Given the description of an element on the screen output the (x, y) to click on. 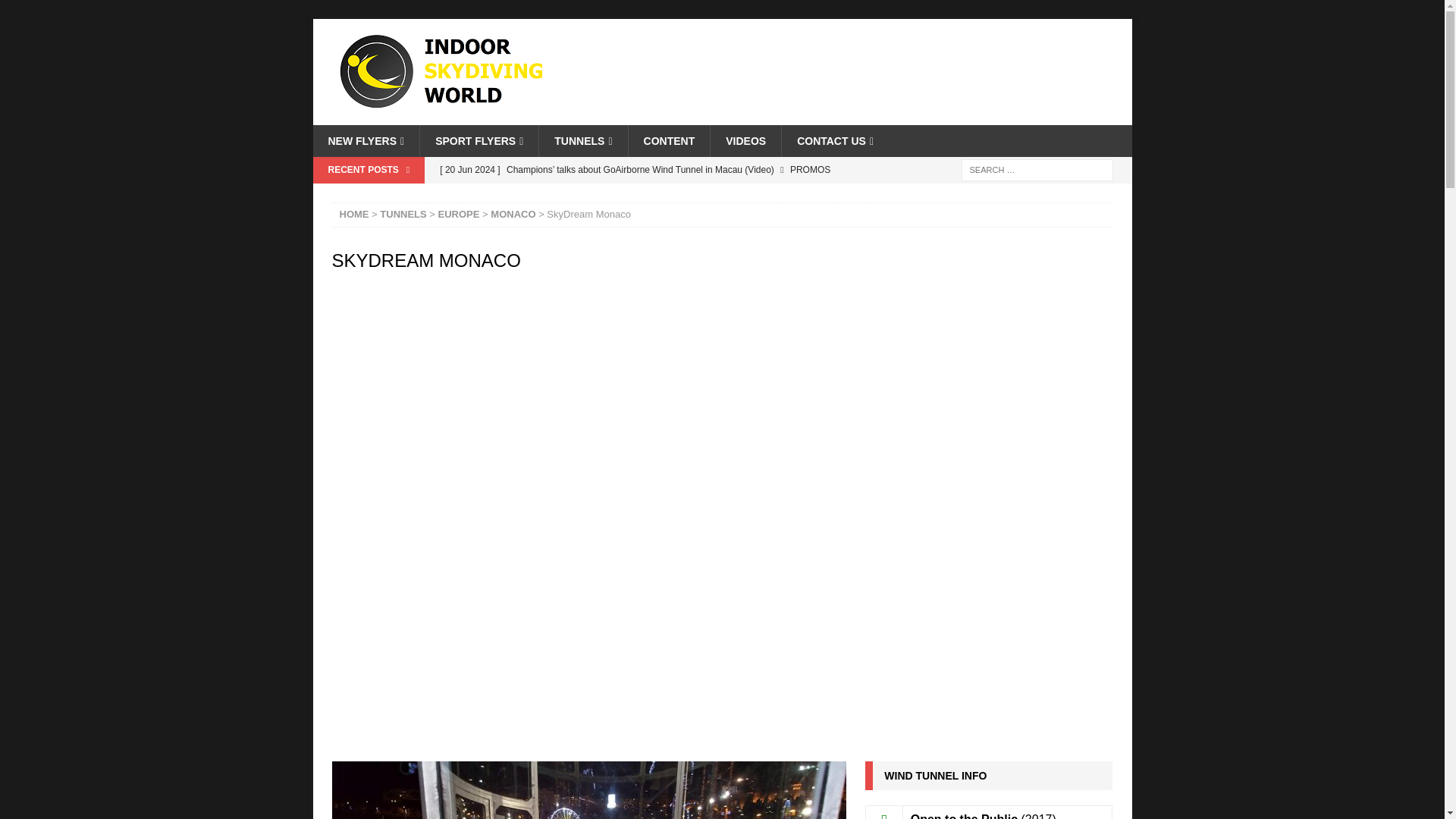
CONTACT US (834, 141)
Search (56, 11)
SkyDream Monaco (588, 790)
TUNNELS (403, 214)
NEW FLYERS (366, 141)
SPORT FLYERS (478, 141)
EUROPE (459, 214)
MONACO (512, 214)
HOME (354, 214)
CONTENT (668, 141)
